Given the description of an element on the screen output the (x, y) to click on. 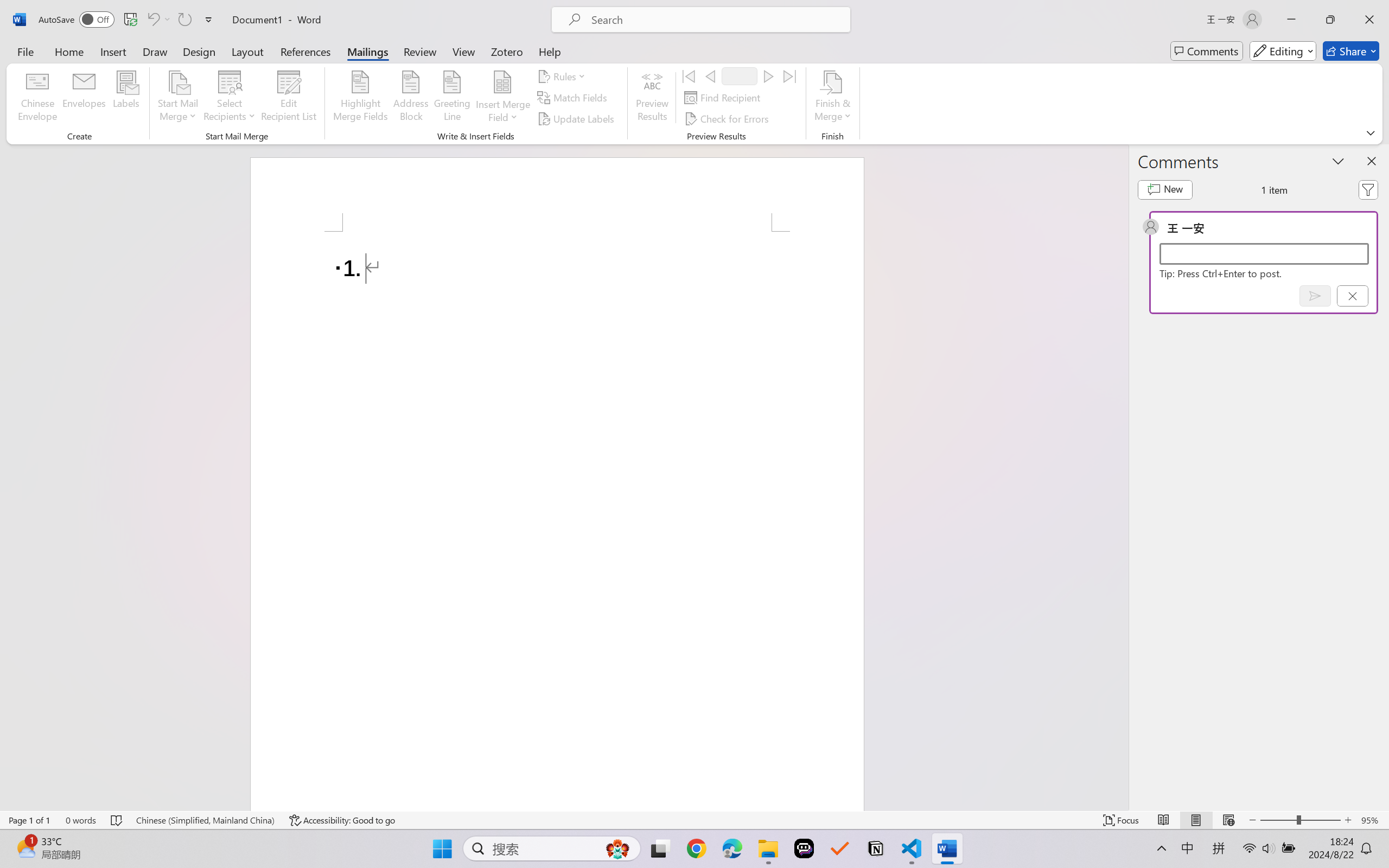
Highlight Merge Fields (360, 97)
Cancel (1352, 295)
Language Chinese (Simplified, Mainland China) (205, 819)
Insert Merge Field (502, 97)
Find Recipient... (723, 97)
